Given the description of an element on the screen output the (x, y) to click on. 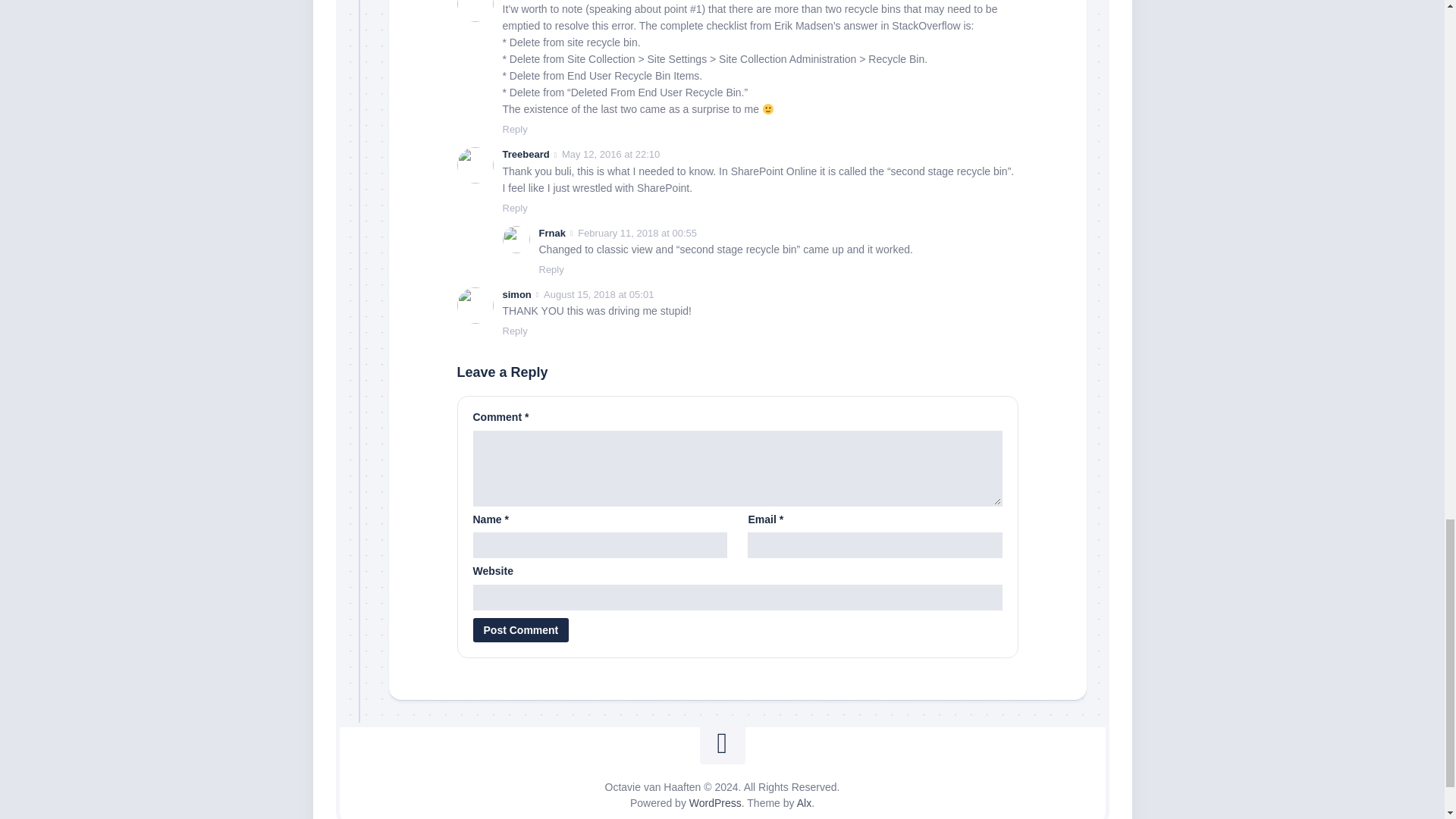
Reply (514, 330)
simon (516, 294)
Post Comment (521, 630)
Reply (514, 207)
Reply (550, 269)
May 12, 2016 at 22:10 (610, 153)
February 11, 2018 at 00:55 (637, 233)
August 15, 2018 at 05:01 (598, 294)
Reply (514, 129)
